Given the description of an element on the screen output the (x, y) to click on. 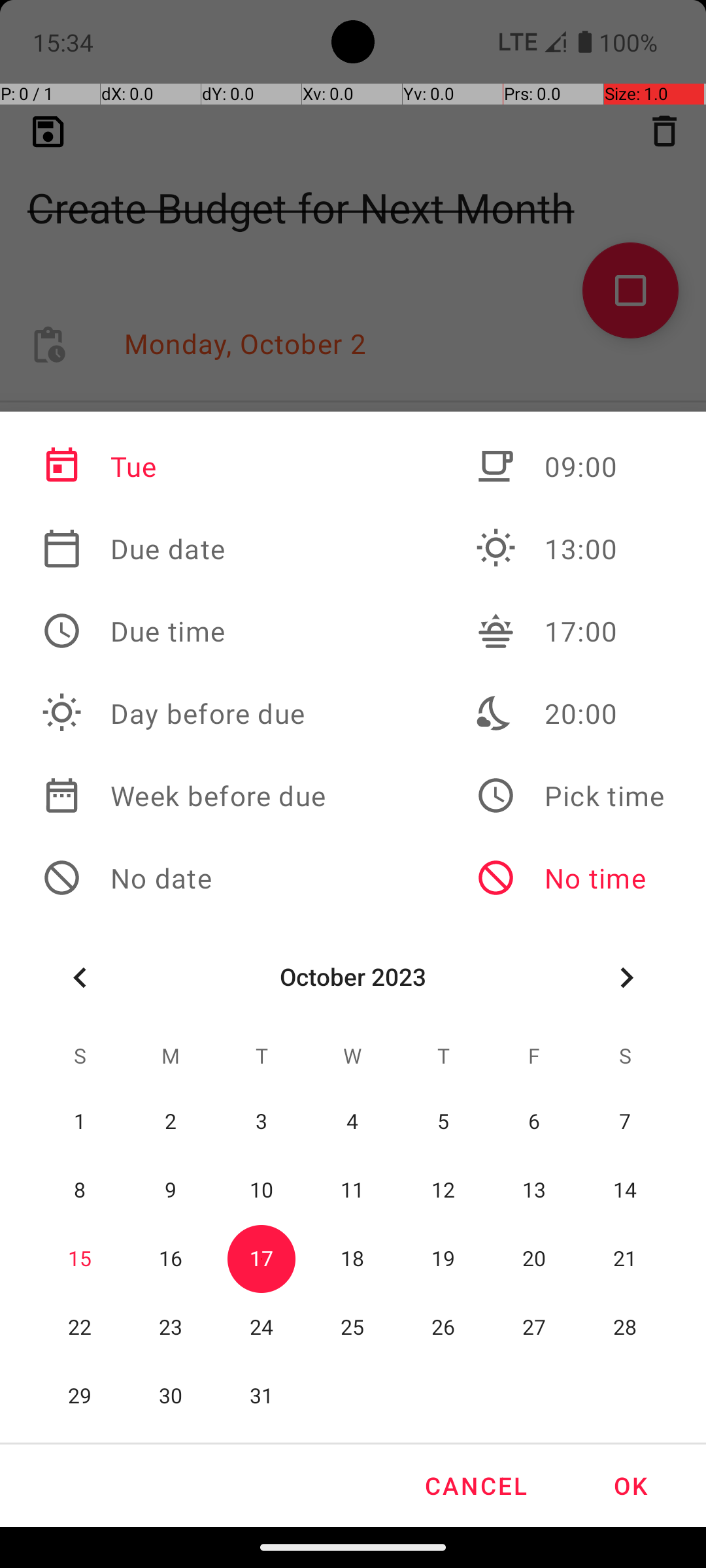
Due time Element type: android.widget.CompoundButton (183, 630)
Day before due Element type: android.widget.CompoundButton (183, 713)
Week before due Element type: android.widget.CompoundButton (183, 795)
